Given the description of an element on the screen output the (x, y) to click on. 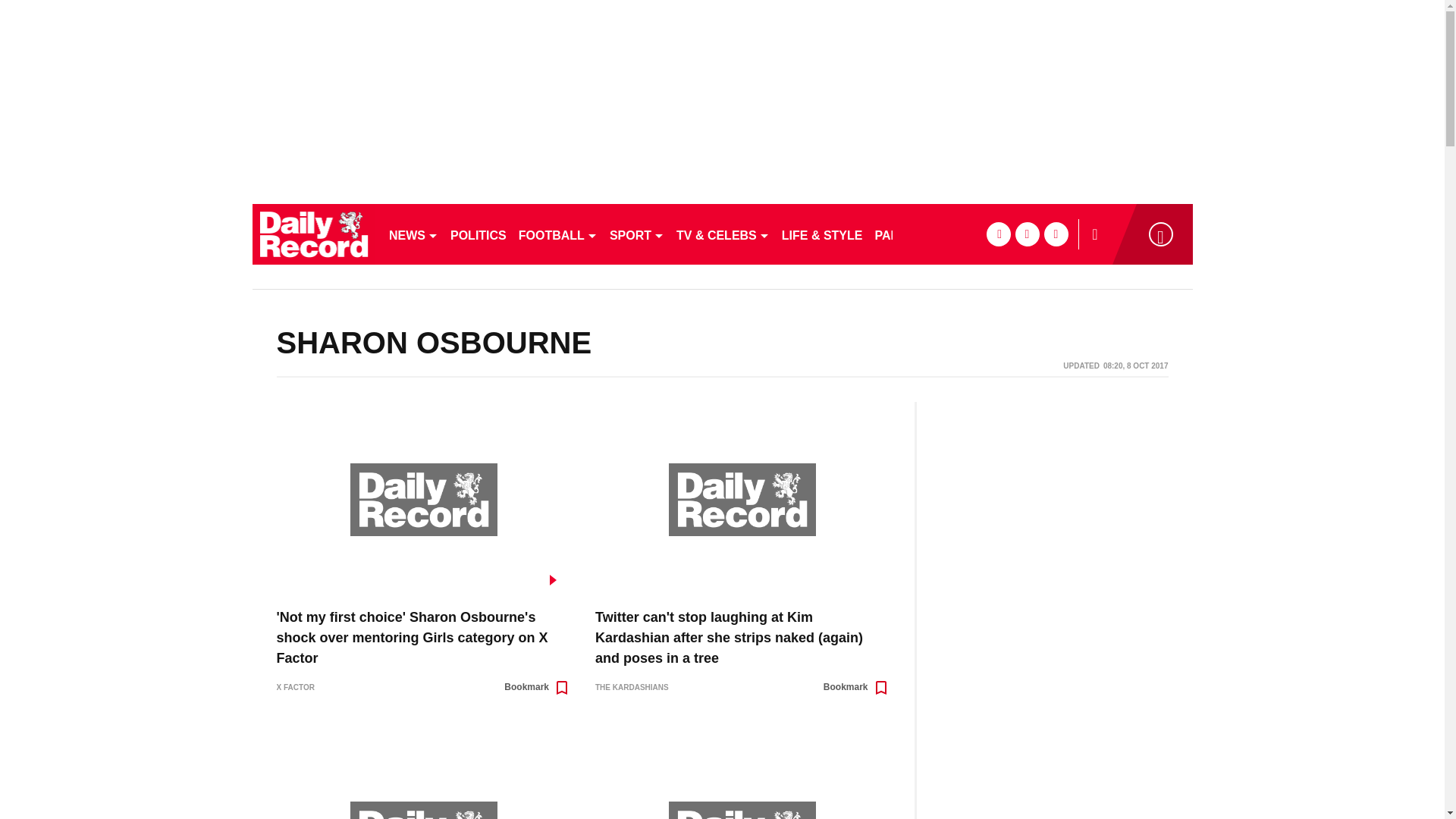
facebook (997, 233)
POLITICS (478, 233)
dailyrecord (313, 233)
NEWS (413, 233)
twitter (1026, 233)
instagram (1055, 233)
SPORT (636, 233)
FOOTBALL (558, 233)
